Given the description of an element on the screen output the (x, y) to click on. 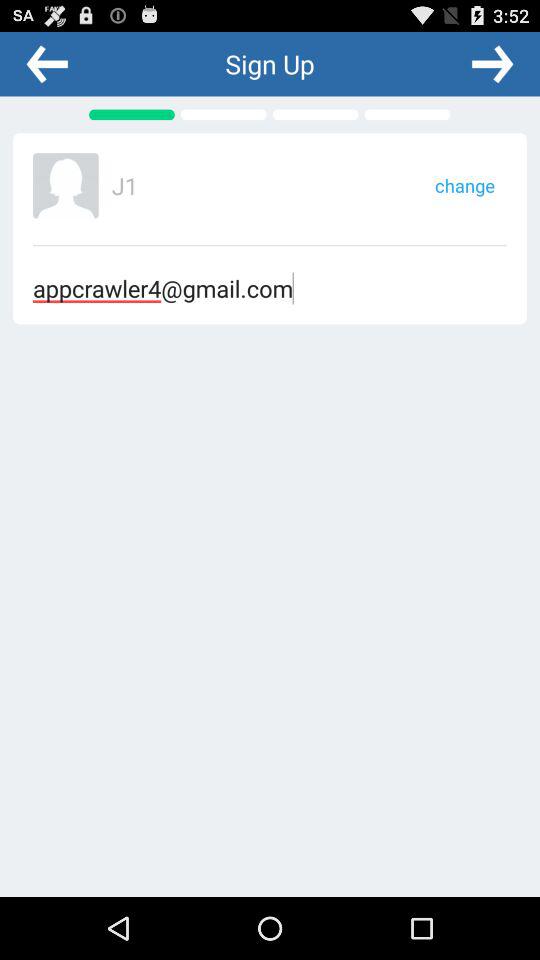
continue (492, 63)
